Given the description of an element on the screen output the (x, y) to click on. 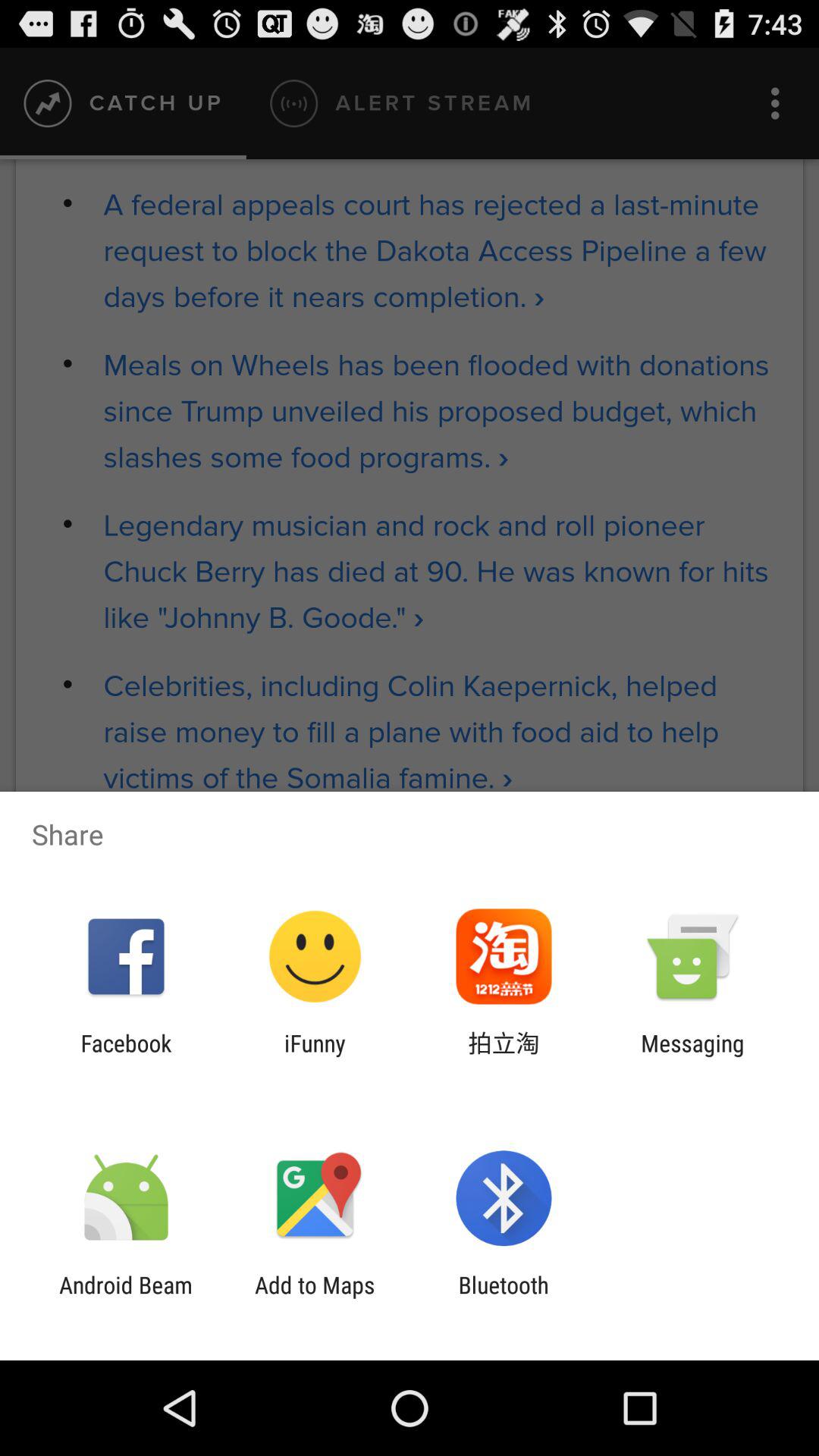
click icon next to the facebook app (314, 1056)
